Given the description of an element on the screen output the (x, y) to click on. 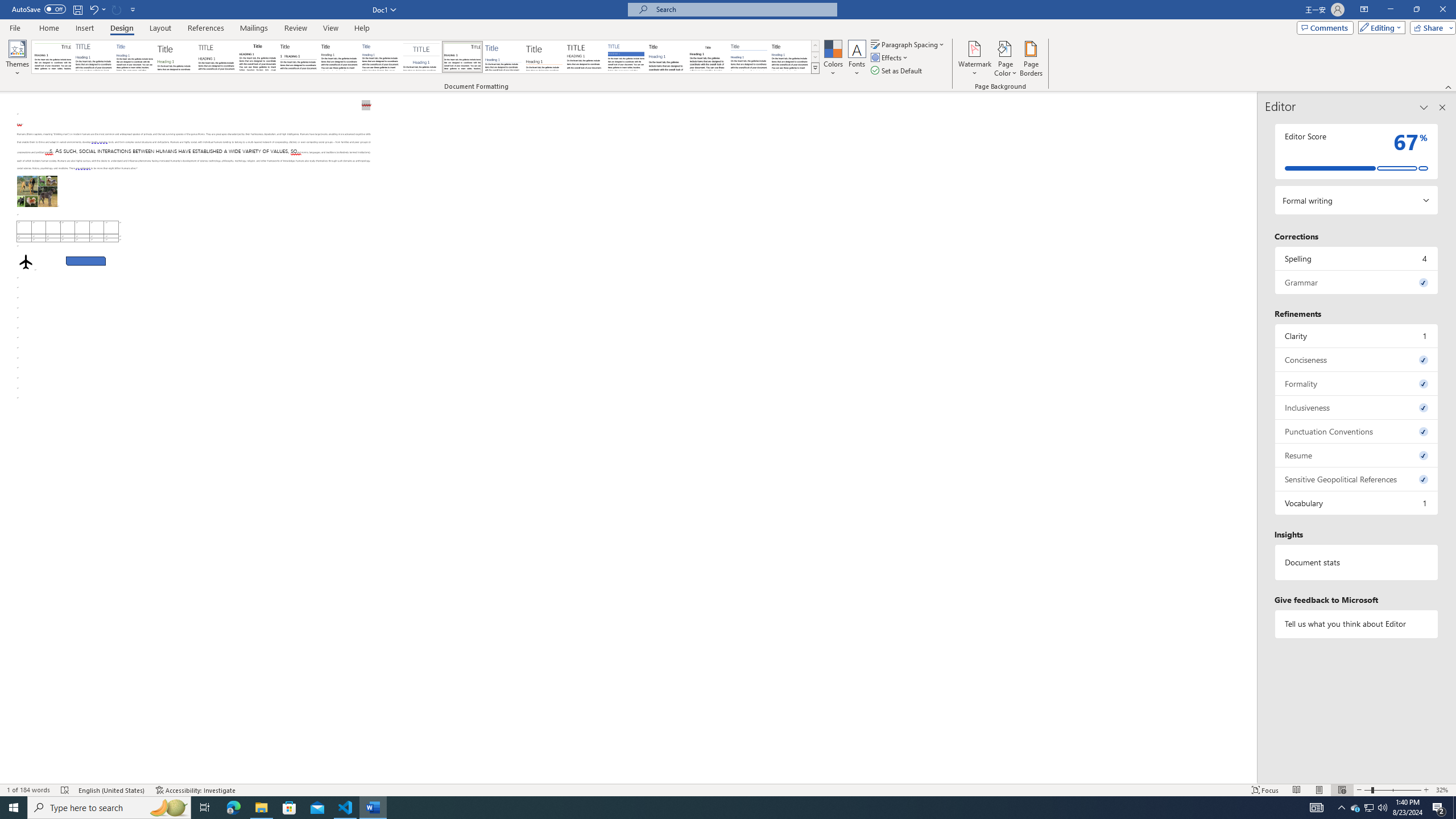
Themes (17, 58)
Morphological variation in six dogs (36, 191)
Can't Repeat (117, 9)
Minimalist (584, 56)
Formality, 0 issues. Press space or enter to review items. (1356, 383)
